Given the description of an element on the screen output the (x, y) to click on. 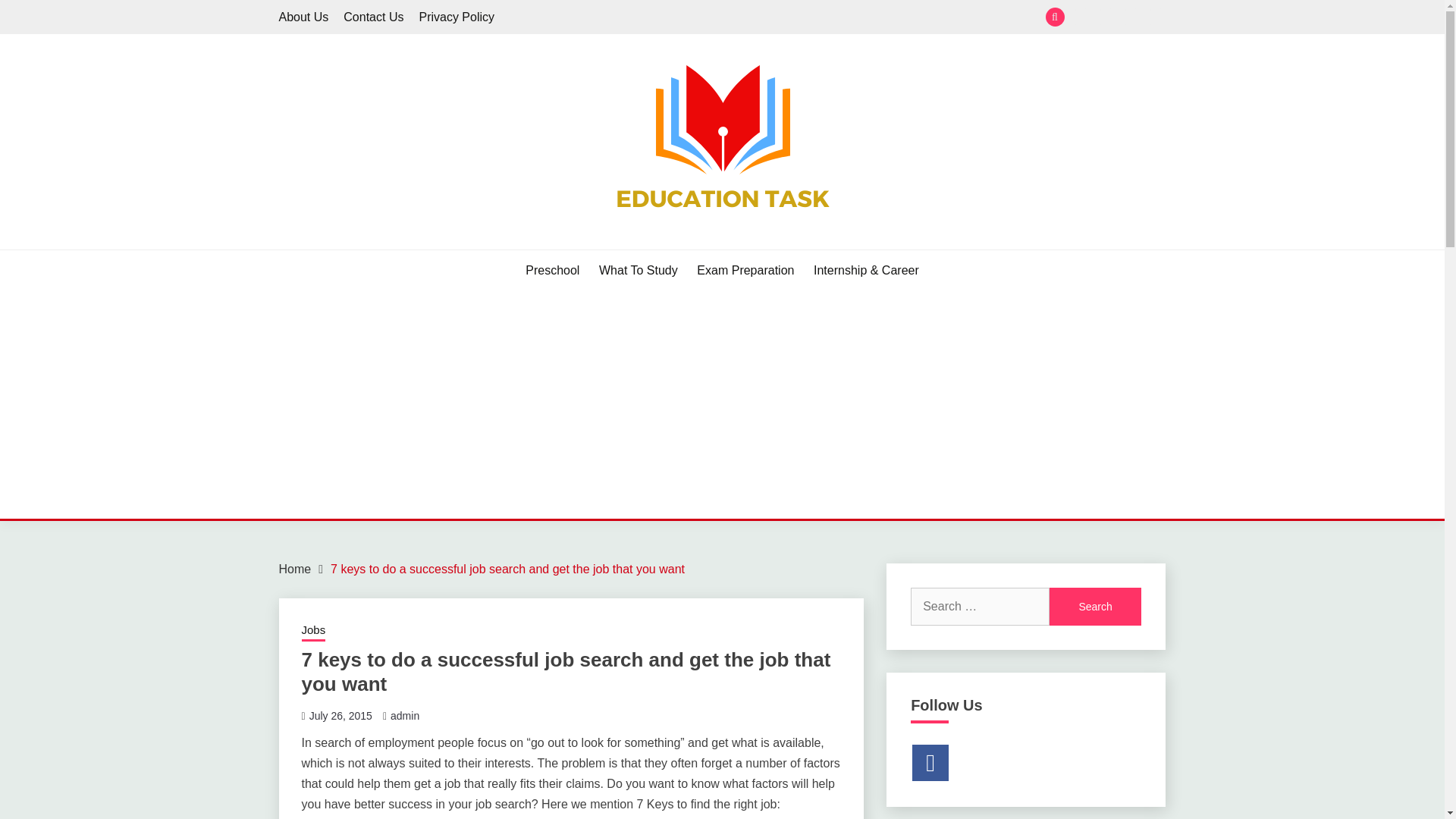
Search (1095, 606)
Privacy Policy (457, 16)
About Us (304, 16)
What To Study (638, 270)
admin (404, 715)
Search (1095, 606)
July 26, 2015 (340, 715)
Preschool (552, 270)
EDUCATION TASK (401, 246)
Search (832, 18)
Preschool (1080, 16)
Facebook (930, 762)
What To Study (1105, 16)
